Given the description of an element on the screen output the (x, y) to click on. 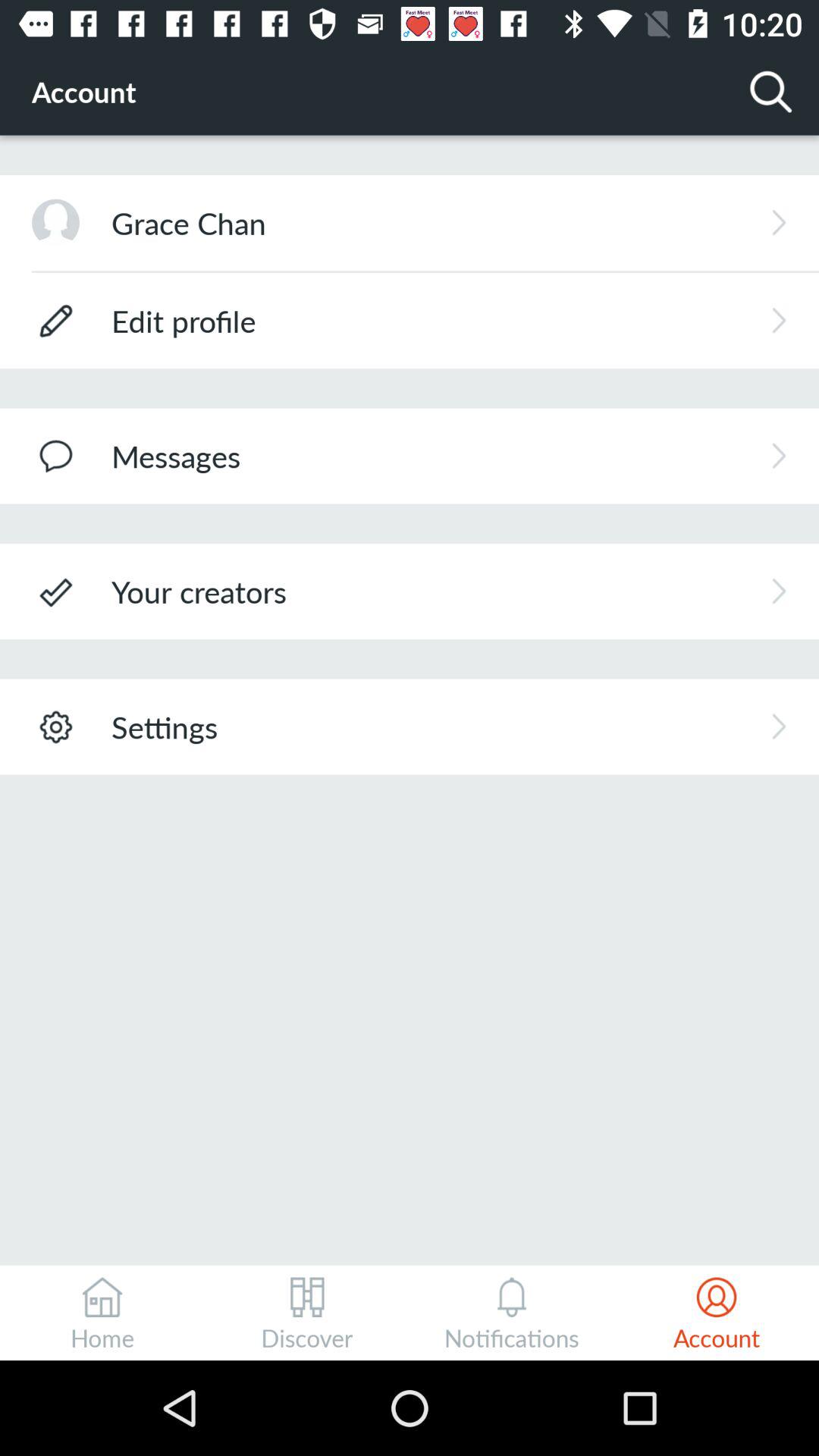
the search icon shown at the top right corner (771, 91)
